Given the description of an element on the screen output the (x, y) to click on. 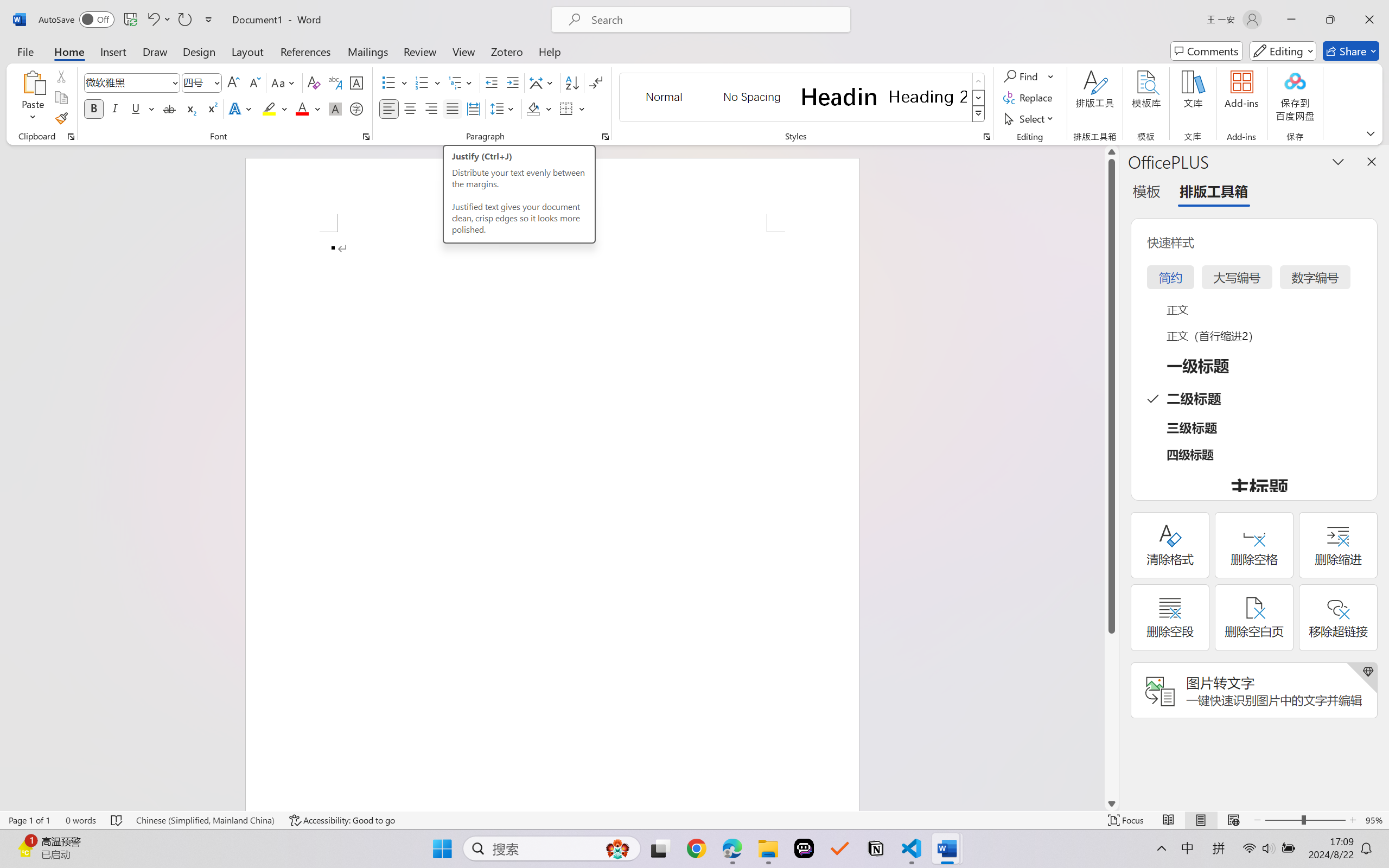
AutomationID: QuickStylesGallery (802, 97)
Class: NetUIScrollBar (1111, 477)
